Given the description of an element on the screen output the (x, y) to click on. 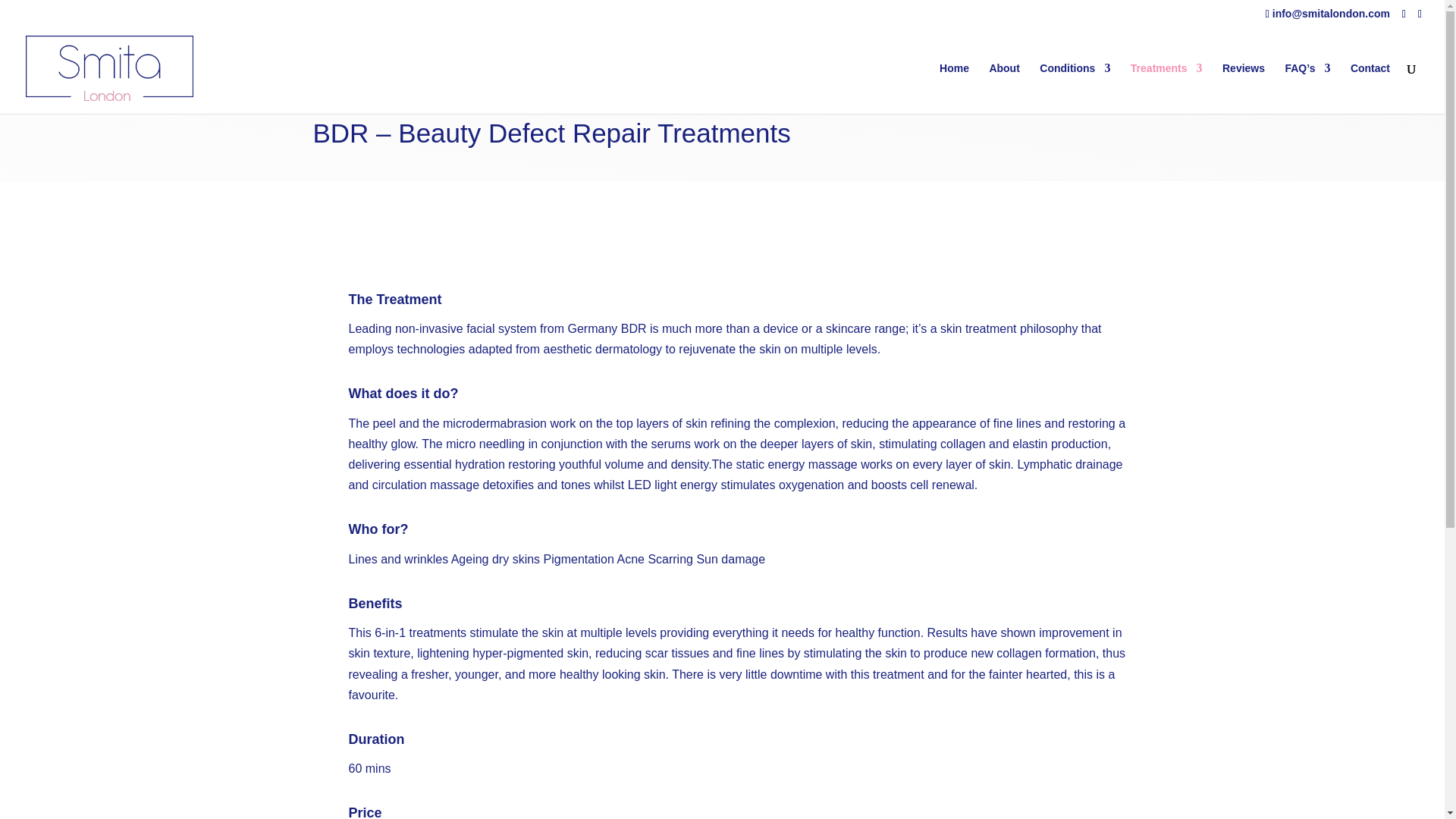
Treatments (1166, 88)
Conditions (1074, 88)
